Given the description of an element on the screen output the (x, y) to click on. 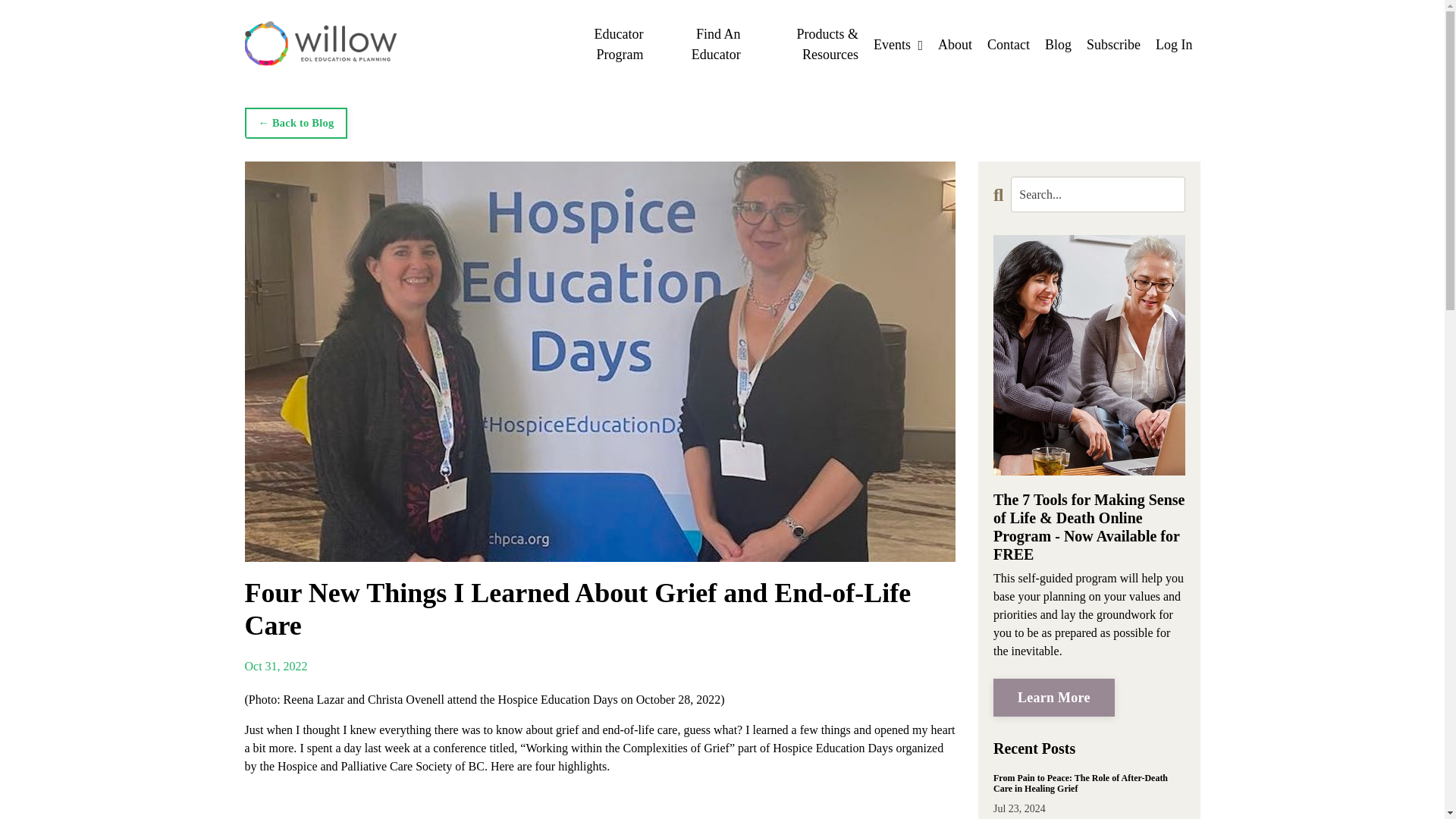
Contact (1008, 45)
Subscribe (1113, 45)
About (954, 45)
Blog (1058, 45)
Events (898, 45)
Educator Program (601, 44)
Learn More (1053, 697)
Log In (1174, 44)
Find An Educator (698, 44)
